Given the description of an element on the screen output the (x, y) to click on. 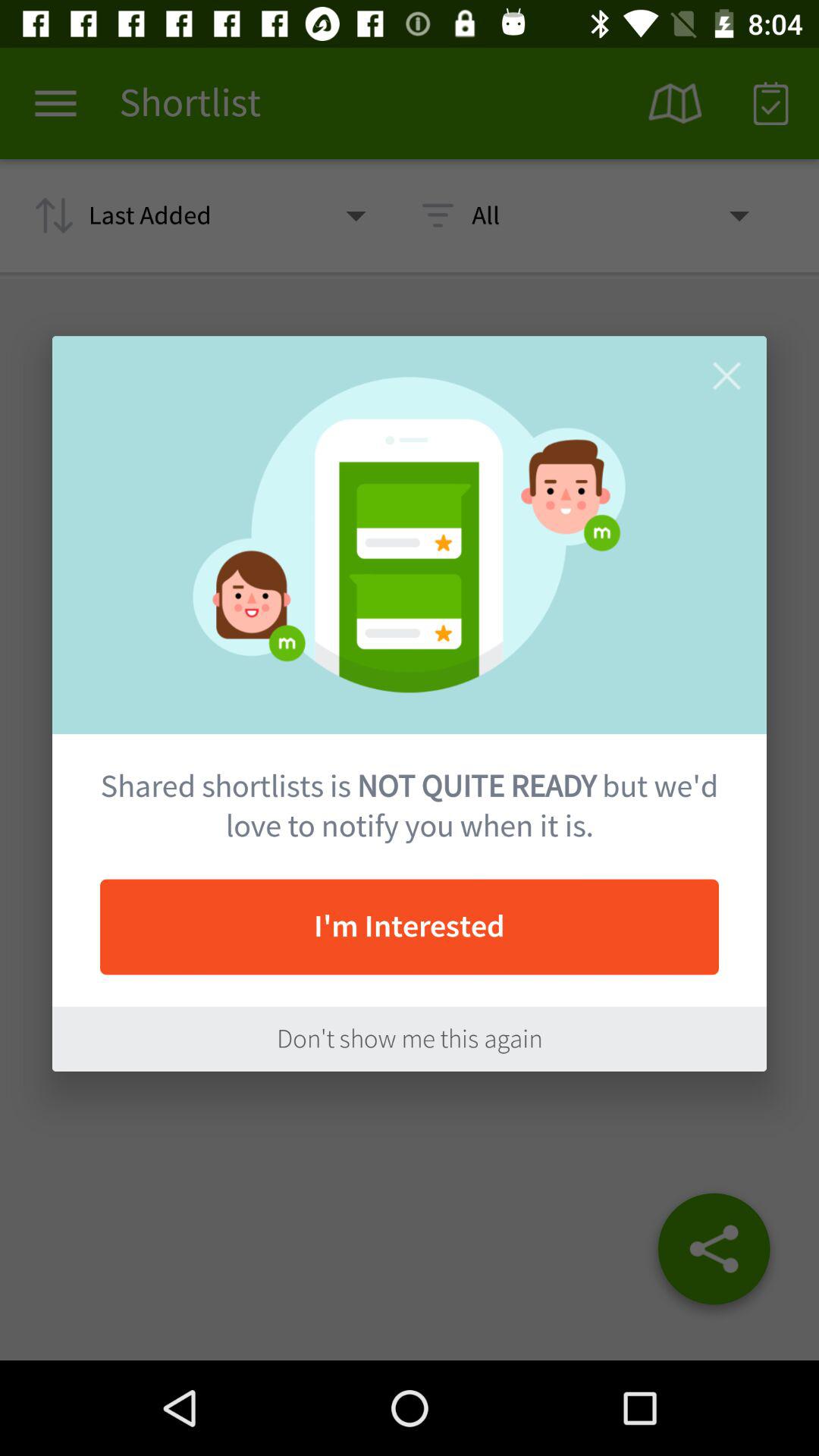
close the tip (726, 375)
